Given the description of an element on the screen output the (x, y) to click on. 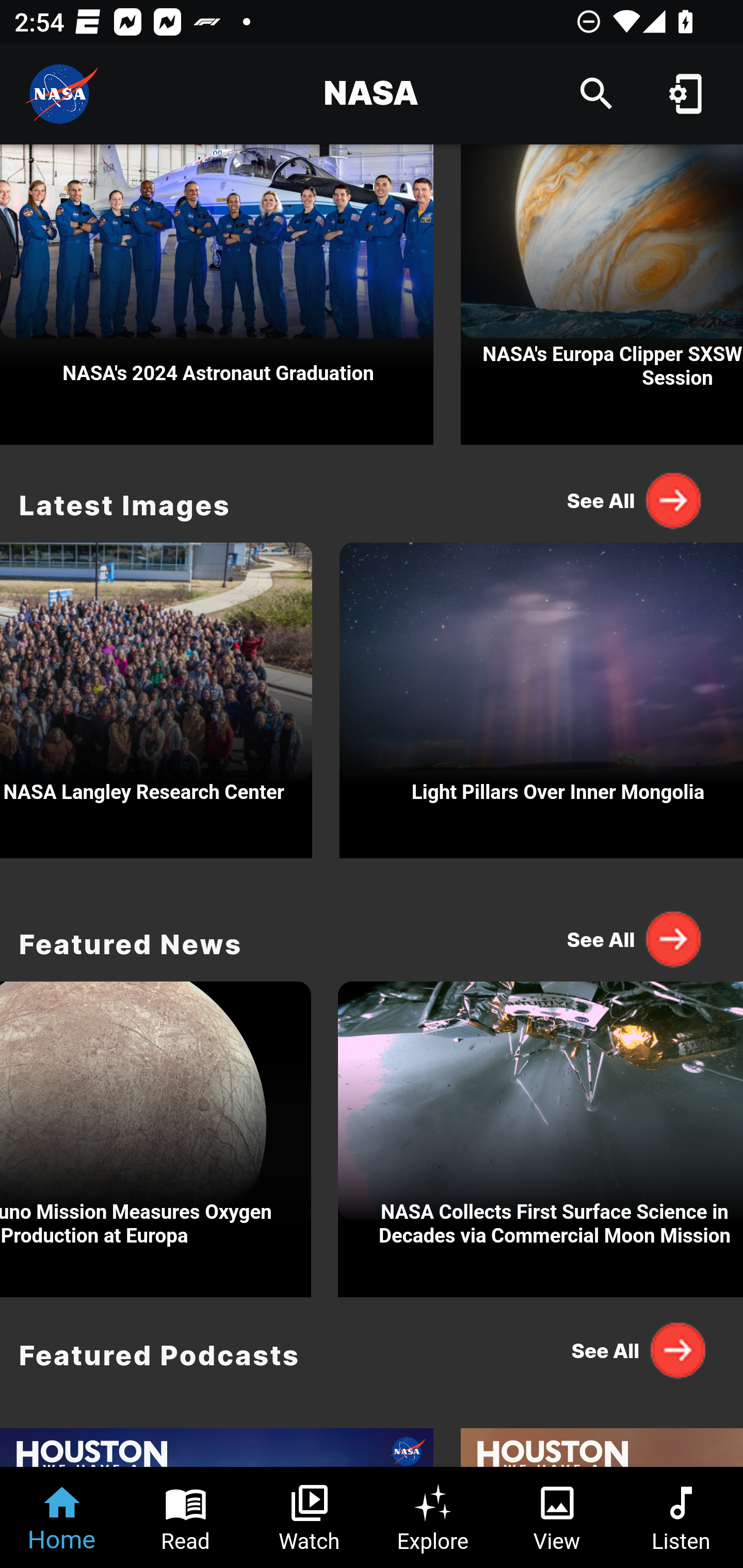
NASA's 2024 Astronaut Graduation (216, 294)
NASA's Europa Clipper SXSW 2024 Opening Session (601, 294)
See All (634, 500)
Women of NASA Langley Research Center (156, 695)
Light Pillars Over Inner Mongolia (541, 695)
See All (634, 938)
See All (634, 1349)
Home
Tab 1 of 6 (62, 1517)
Read
Tab 2 of 6 (185, 1517)
Watch
Tab 3 of 6 (309, 1517)
Explore
Tab 4 of 6 (433, 1517)
View
Tab 5 of 6 (556, 1517)
Listen
Tab 6 of 6 (680, 1517)
